Given the description of an element on the screen output the (x, y) to click on. 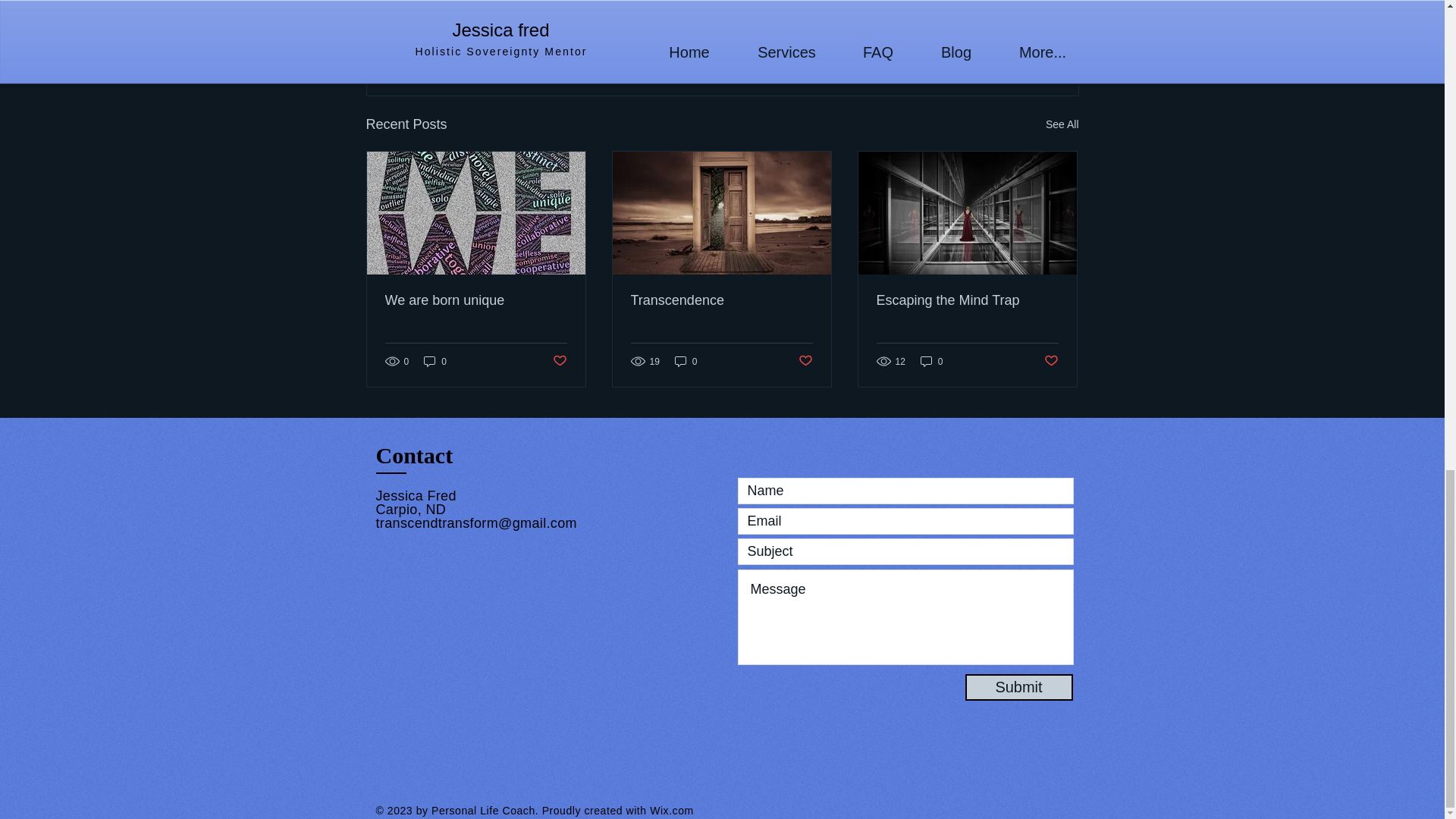
0 (685, 360)
Transcendence (721, 300)
0 (435, 360)
We are born unique (476, 300)
Escaping the Mind Trap (967, 300)
Post not marked as liked (1050, 360)
Post not marked as liked (804, 360)
Wix.com (671, 810)
0 (931, 360)
Post not marked as liked (558, 360)
